Given the description of an element on the screen output the (x, y) to click on. 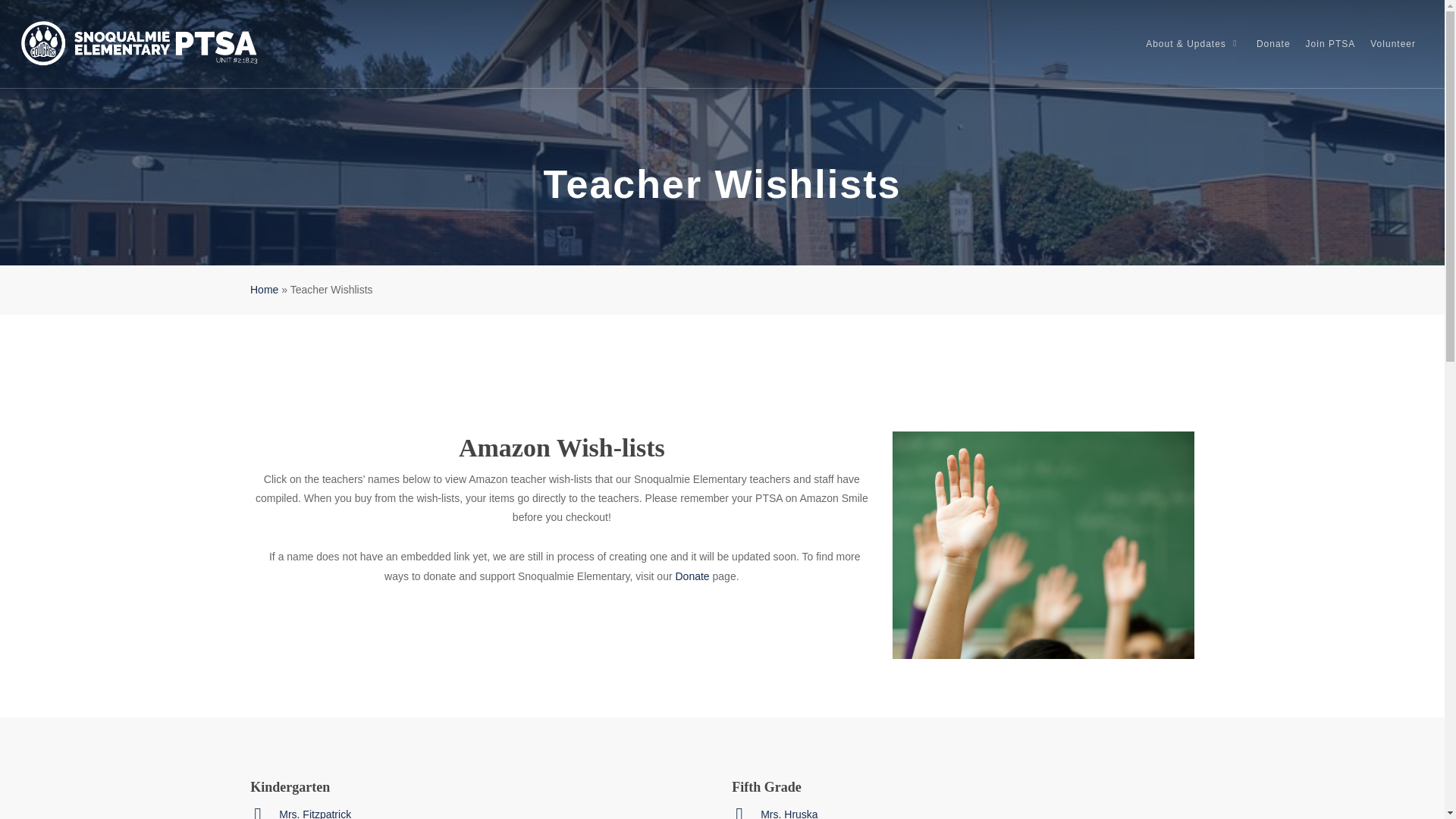
Mrs. Fitzpatrick (314, 813)
Mrs. Hruska (788, 813)
Donate (1273, 43)
Join PTSA (1330, 43)
Donate (692, 576)
Home (264, 289)
Volunteer (1392, 43)
